Given the description of an element on the screen output the (x, y) to click on. 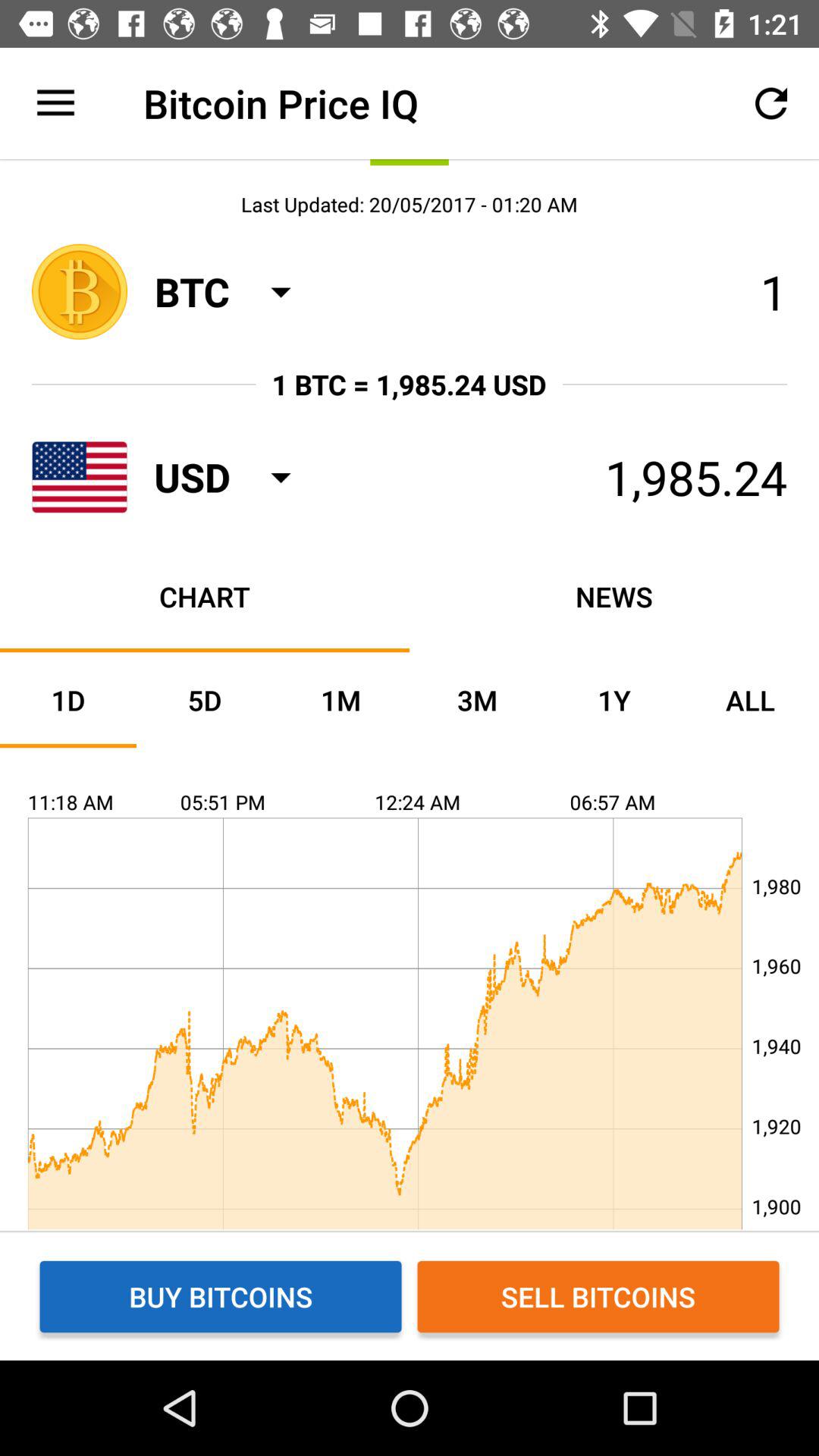
turn off the icon above the last updated 20 (771, 103)
